Given the description of an element on the screen output the (x, y) to click on. 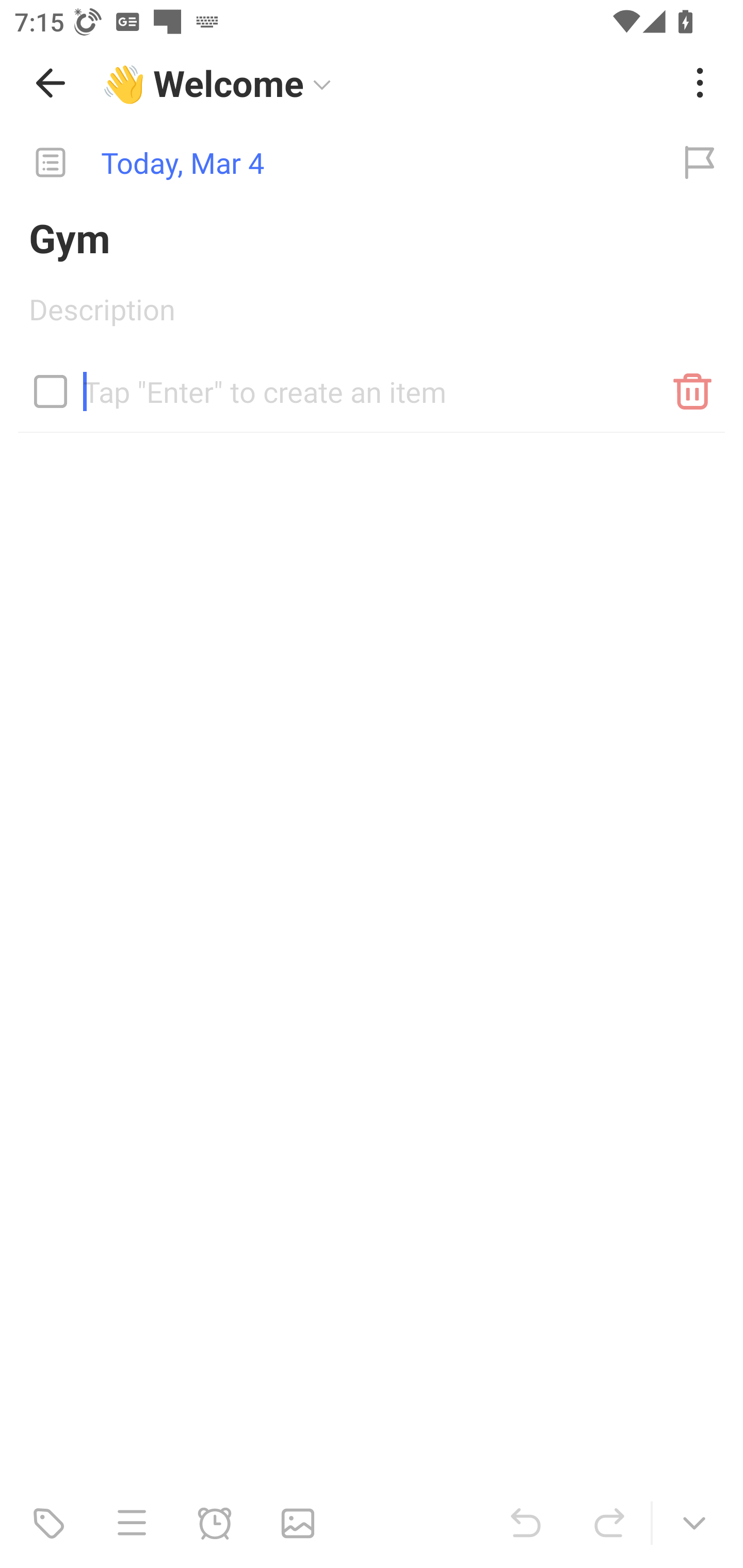
👋 Welcome (384, 82)
Today, Mar 4  (328, 163)
Gym (371, 237)
Description (371, 315)
  (50, 390)
Tap "Enter" to create an item (371, 383)
